Given the description of an element on the screen output the (x, y) to click on. 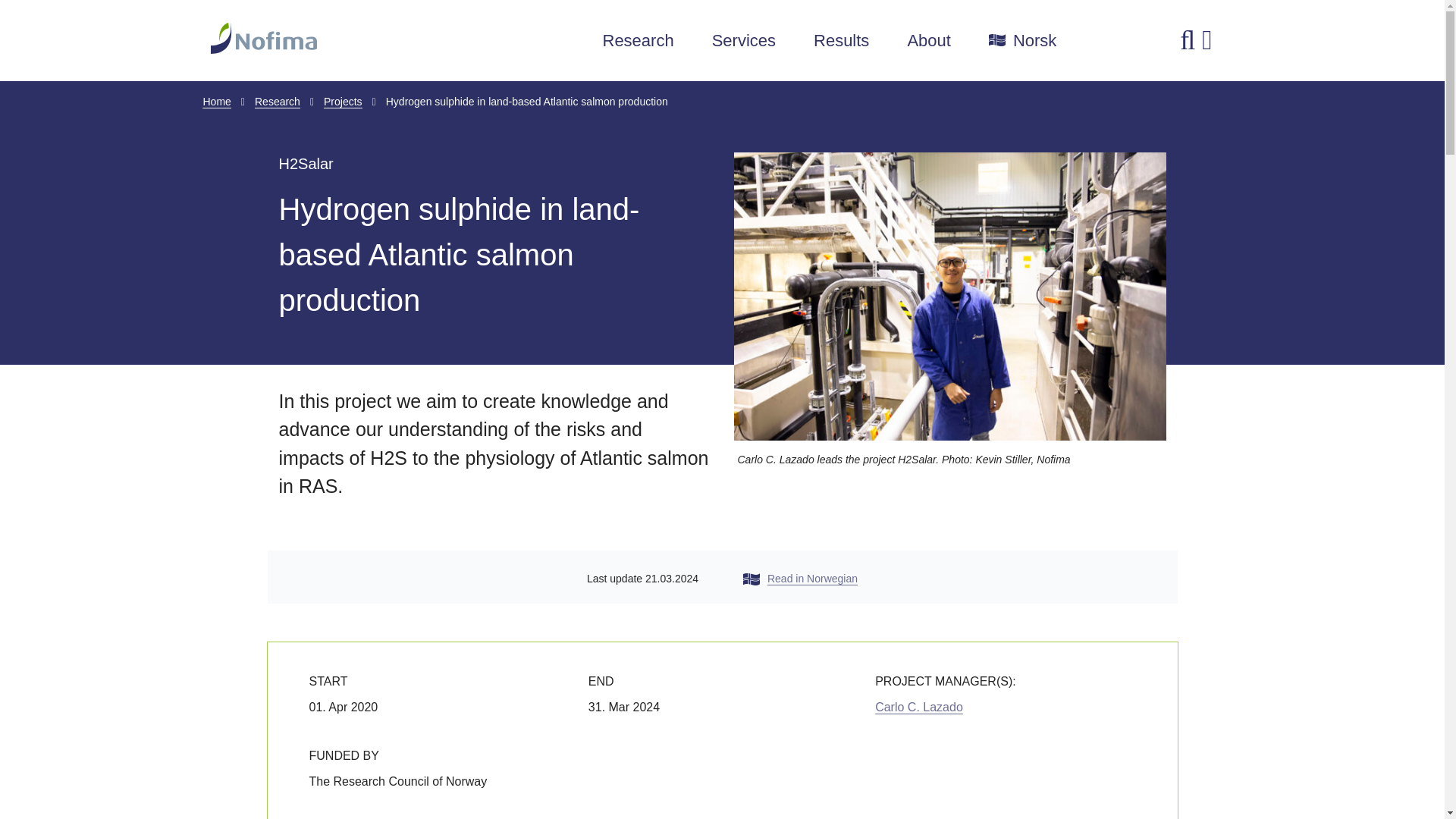
Research (638, 40)
Go to Research. (276, 101)
Nofima (350, 38)
Go to Projects. (342, 101)
Go to Nofima. (217, 101)
Results (841, 40)
Services (743, 40)
